Given the description of an element on the screen output the (x, y) to click on. 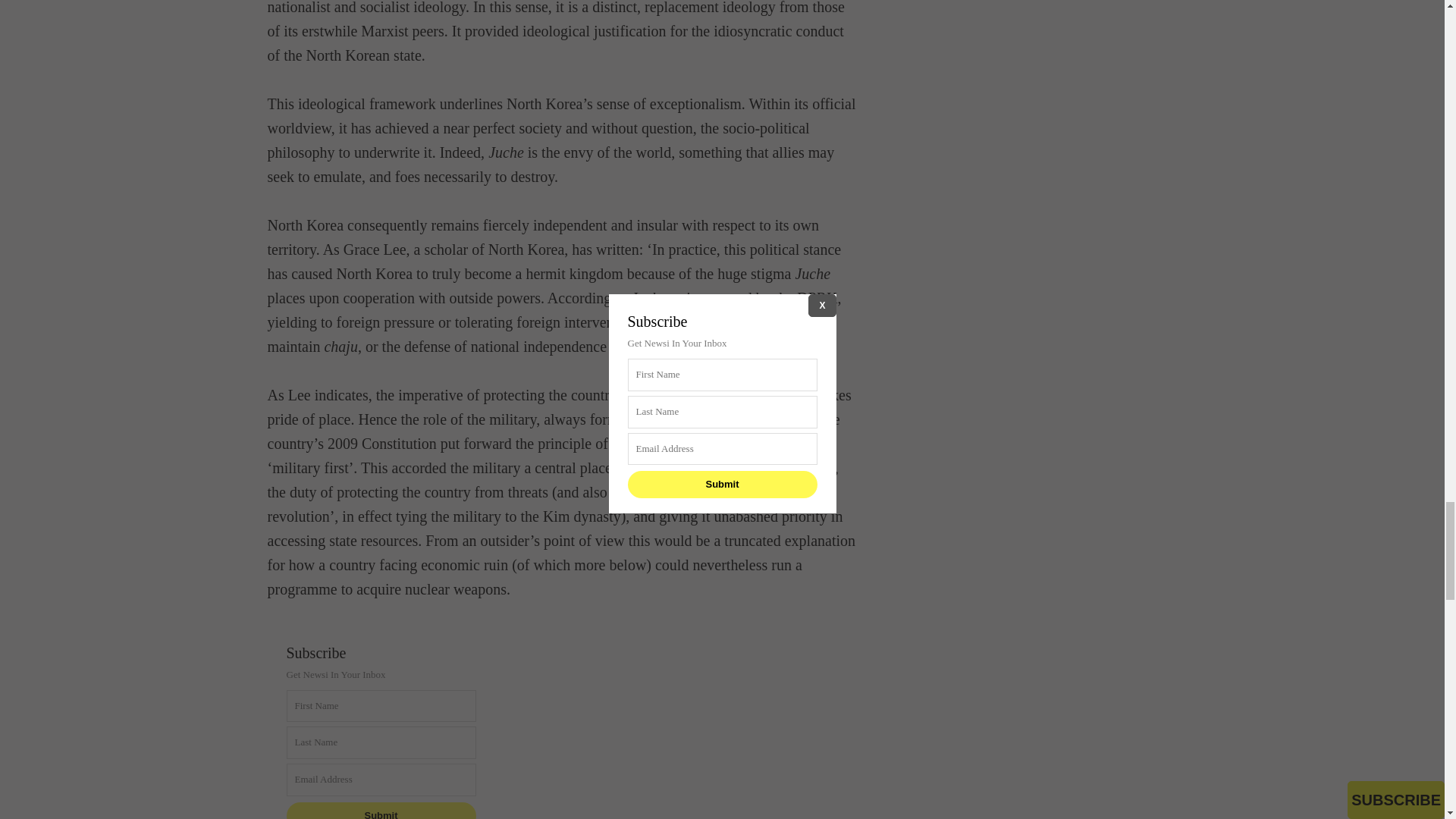
Submit (381, 810)
Submit (381, 810)
